Given the description of an element on the screen output the (x, y) to click on. 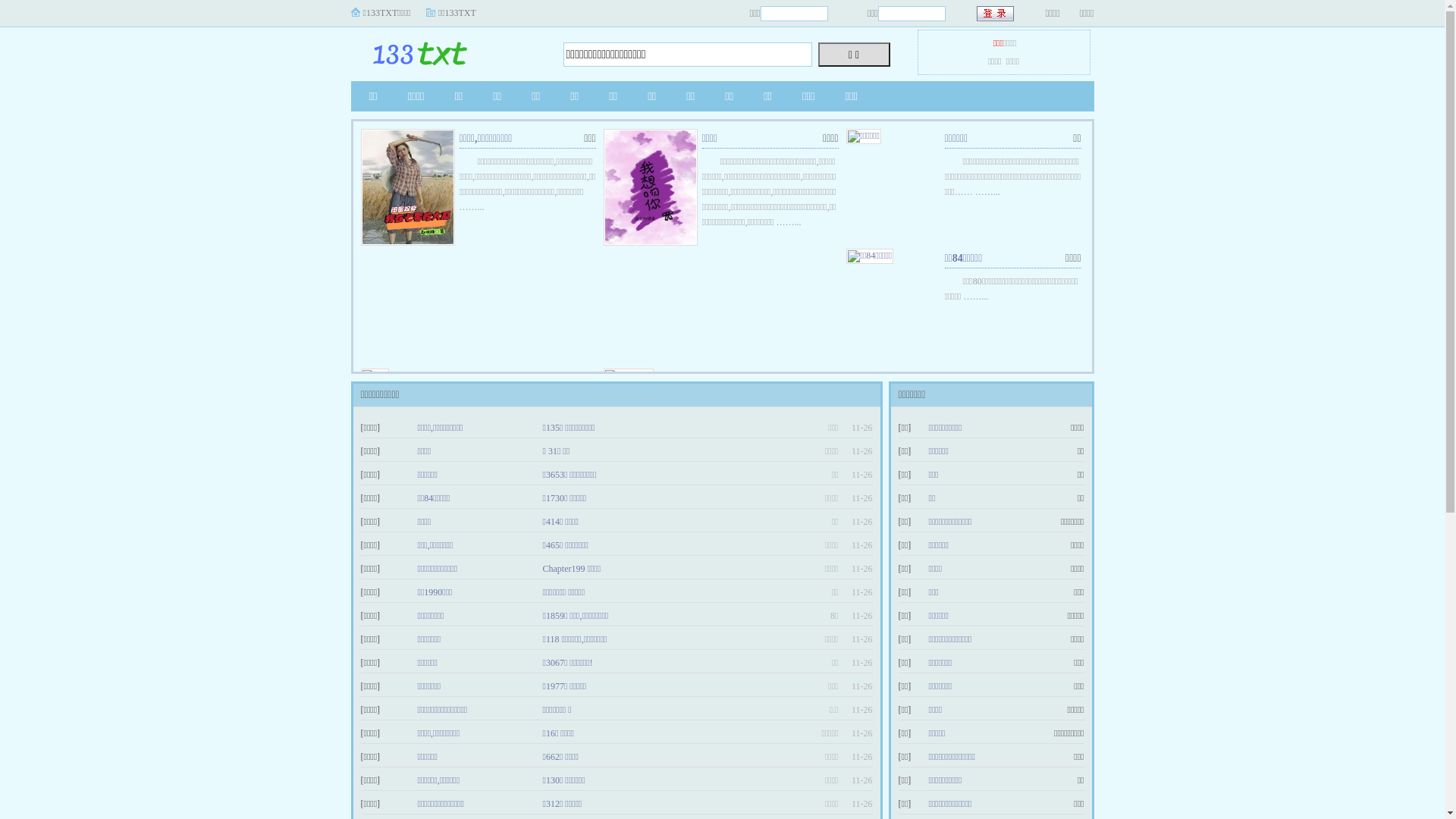
133TXT Element type: text (444, 49)
  Element type: text (995, 13)
